Given the description of an element on the screen output the (x, y) to click on. 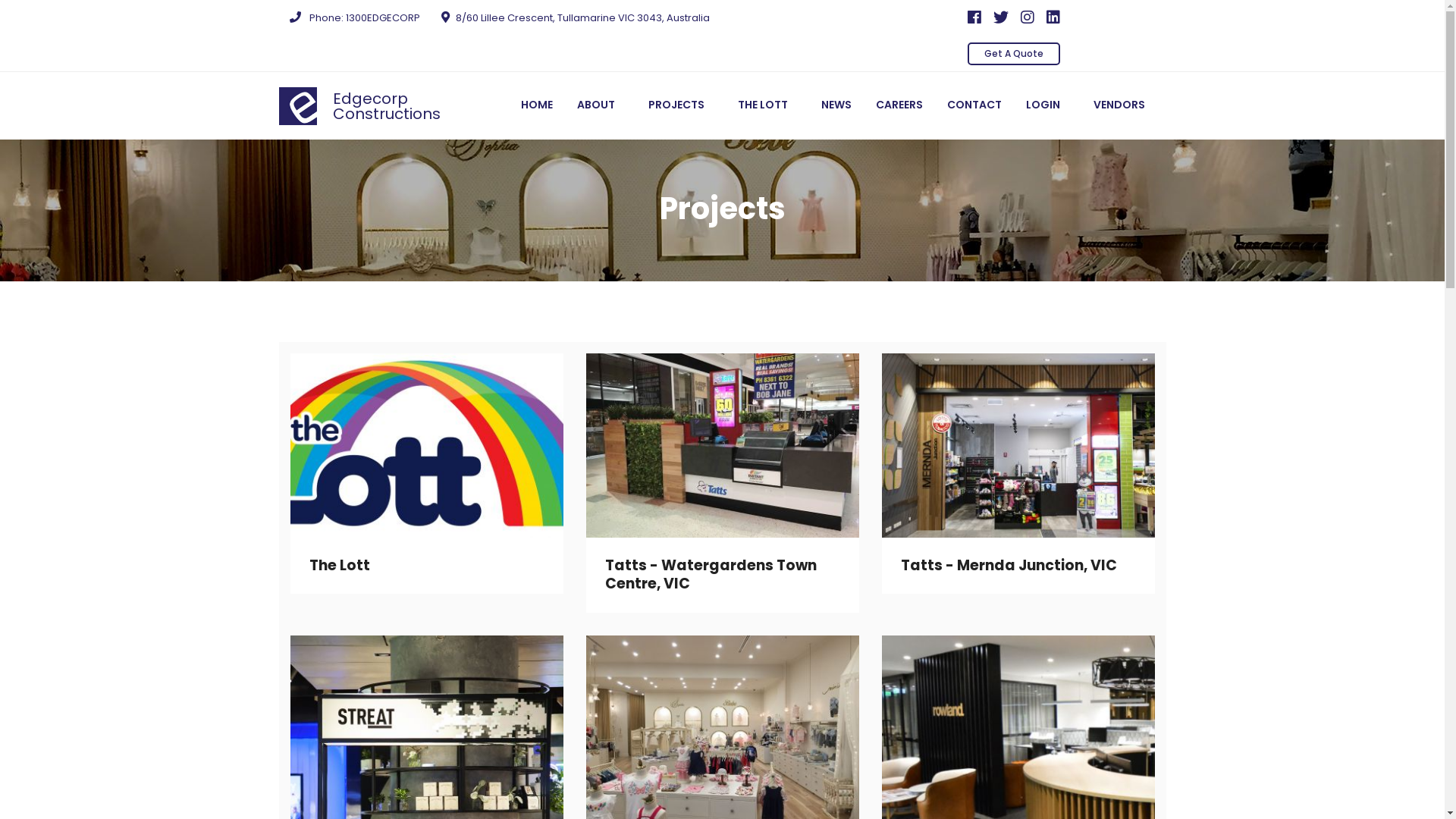
HOME Element type: text (536, 104)
NEWS Element type: text (835, 104)
LOGIN Element type: text (1046, 104)
PROJECTS Element type: text (679, 104)
CAREERS Element type: text (898, 104)
Tatts - Watergardens Town Centre, VIC Element type: text (710, 574)
ABOUT Element type: text (599, 104)
Get A Quote Element type: text (1013, 53)
THE LOTT Element type: text (766, 104)
Edgecorp
Constructions Element type: text (365, 104)
VENDORS Element type: text (1123, 104)
Tatts - Mernda Junction, VIC Element type: text (1008, 565)
CONTACT Element type: text (973, 104)
The Lott Element type: text (339, 565)
